Given the description of an element on the screen output the (x, y) to click on. 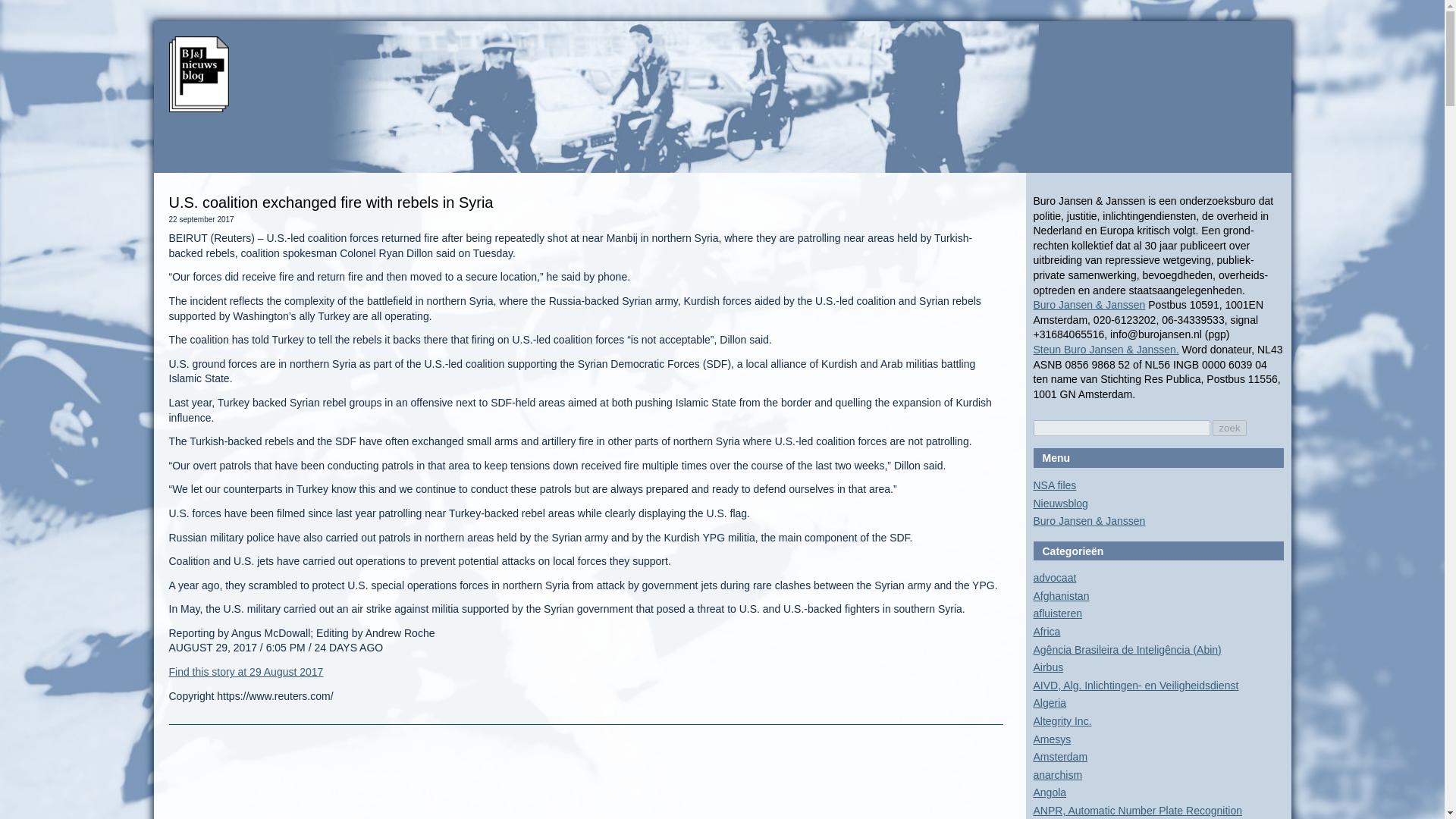
Algeria (1048, 702)
Afghanistan (1060, 595)
Nieuwsblog (1059, 503)
Airbus (1047, 666)
Amsterdam (1059, 756)
afluisteren (1056, 613)
zoek (1229, 427)
Angola (1048, 792)
NSA files (1053, 485)
zoek (1229, 427)
AIVD, Alg. Inlichtingen- en Veiligheidsdienst (1135, 685)
anarchism (1056, 775)
advocaat (1053, 577)
Altegrity Inc. (1061, 720)
Africa (1045, 631)
